Given the description of an element on the screen output the (x, y) to click on. 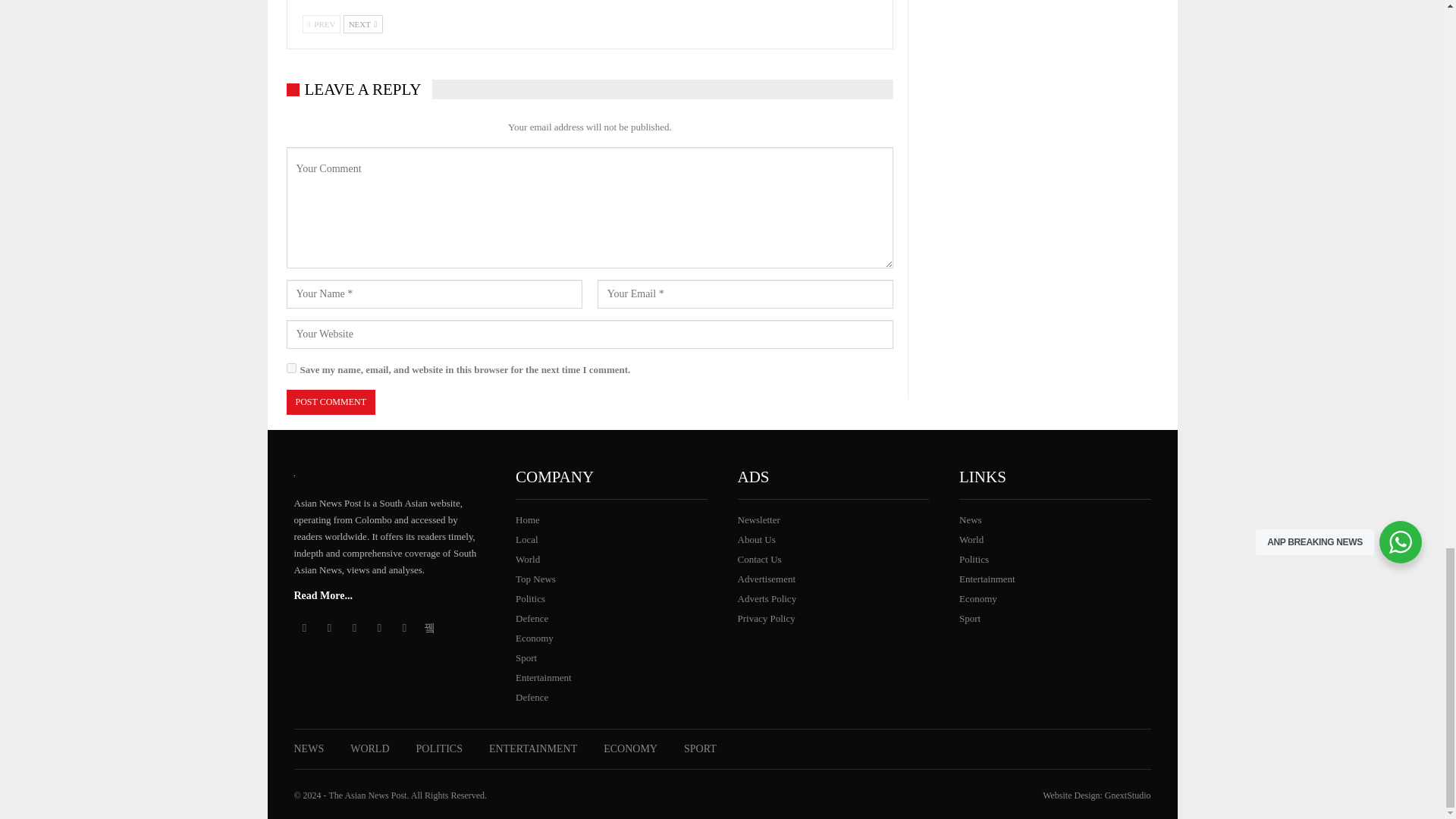
Post Comment (330, 401)
yes (291, 368)
